Given the description of an element on the screen output the (x, y) to click on. 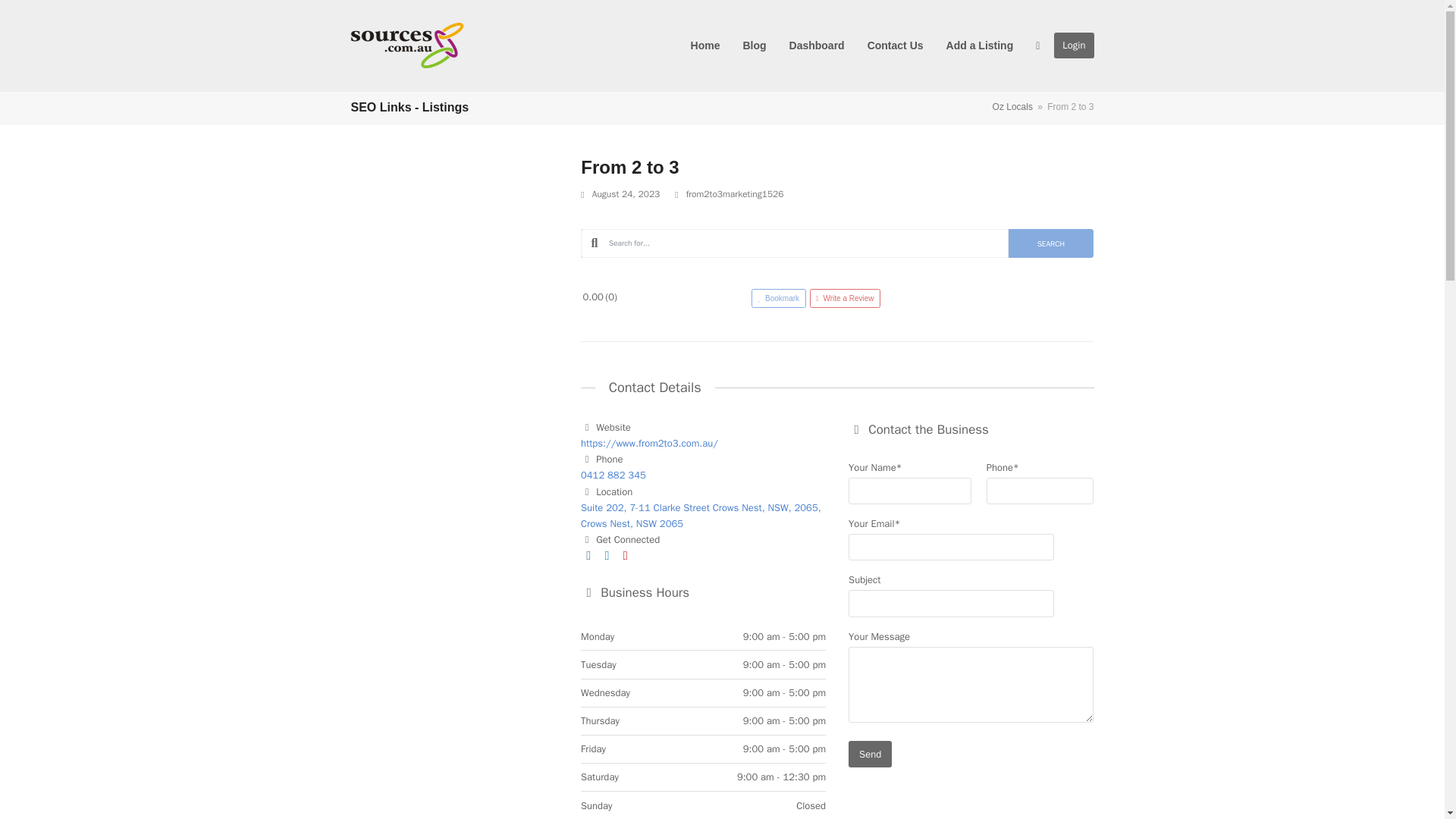
from2to3marketing1526 (734, 193)
Send (869, 754)
Add a Listing (979, 45)
Write a Review (844, 298)
LinkedIn (606, 554)
Send (869, 754)
Bookmark (779, 298)
SEARCH (1051, 243)
0412 882 345 (613, 474)
Facebook (587, 554)
YouTube (625, 554)
Posts by from2to3marketing1526 (734, 193)
Oz Locals (1012, 106)
